Given the description of an element on the screen output the (x, y) to click on. 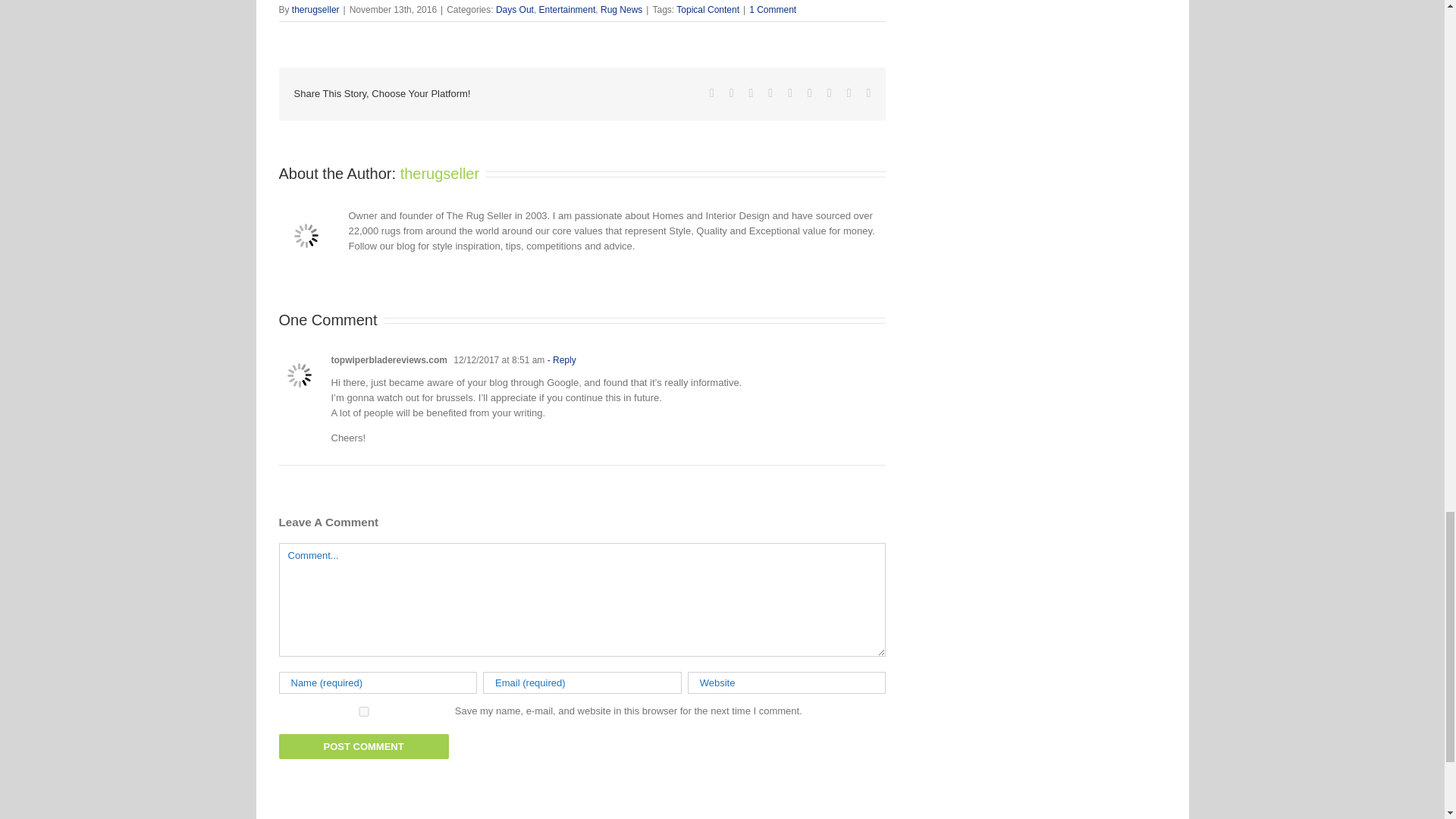
Posts by therugseller (440, 173)
yes (363, 711)
Posts by therugseller (315, 9)
Post Comment (363, 746)
